Given the description of an element on the screen output the (x, y) to click on. 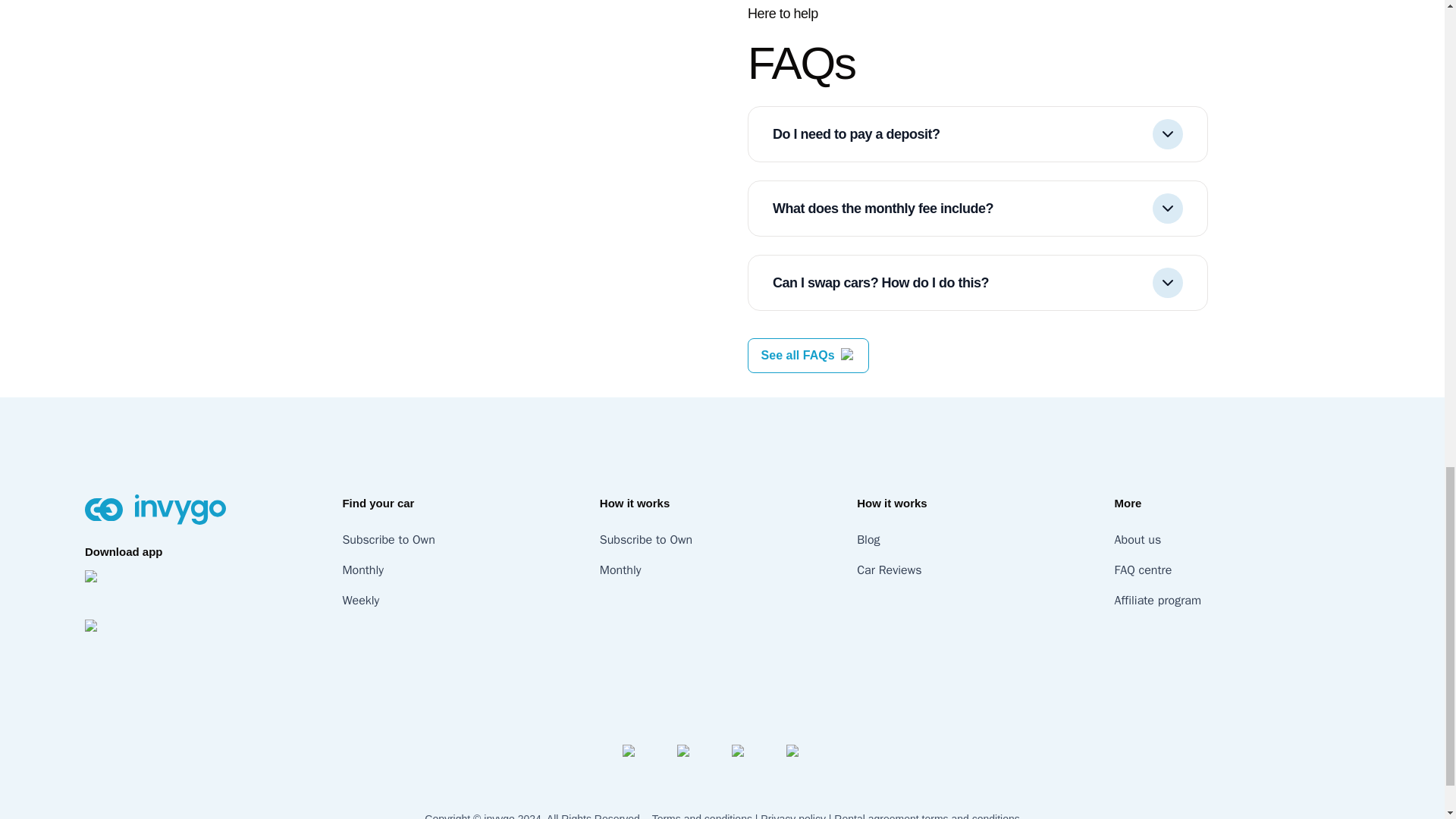
Car Reviews (889, 570)
What does the monthly fee include? (977, 207)
Subscribe to Own (387, 539)
See all FAQs (797, 355)
Do I need to pay a deposit? (977, 134)
Monthly (620, 570)
FAQ centre (1143, 570)
Affiliate program (1158, 600)
Blog (868, 539)
Can I swap cars? How do I do this? (977, 282)
Monthly (363, 570)
Subscribe to Own (646, 539)
Weekly (360, 600)
About us (1138, 539)
